Given the description of an element on the screen output the (x, y) to click on. 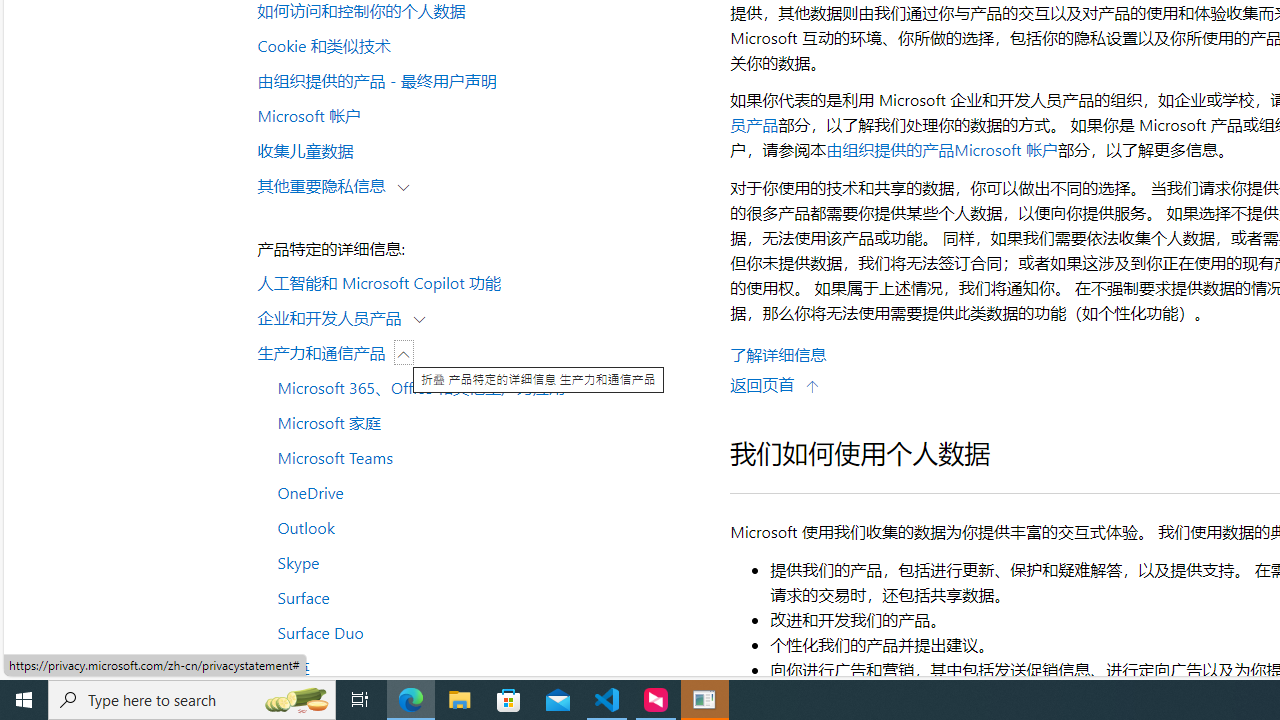
Skype (483, 561)
